Given the description of an element on the screen output the (x, y) to click on. 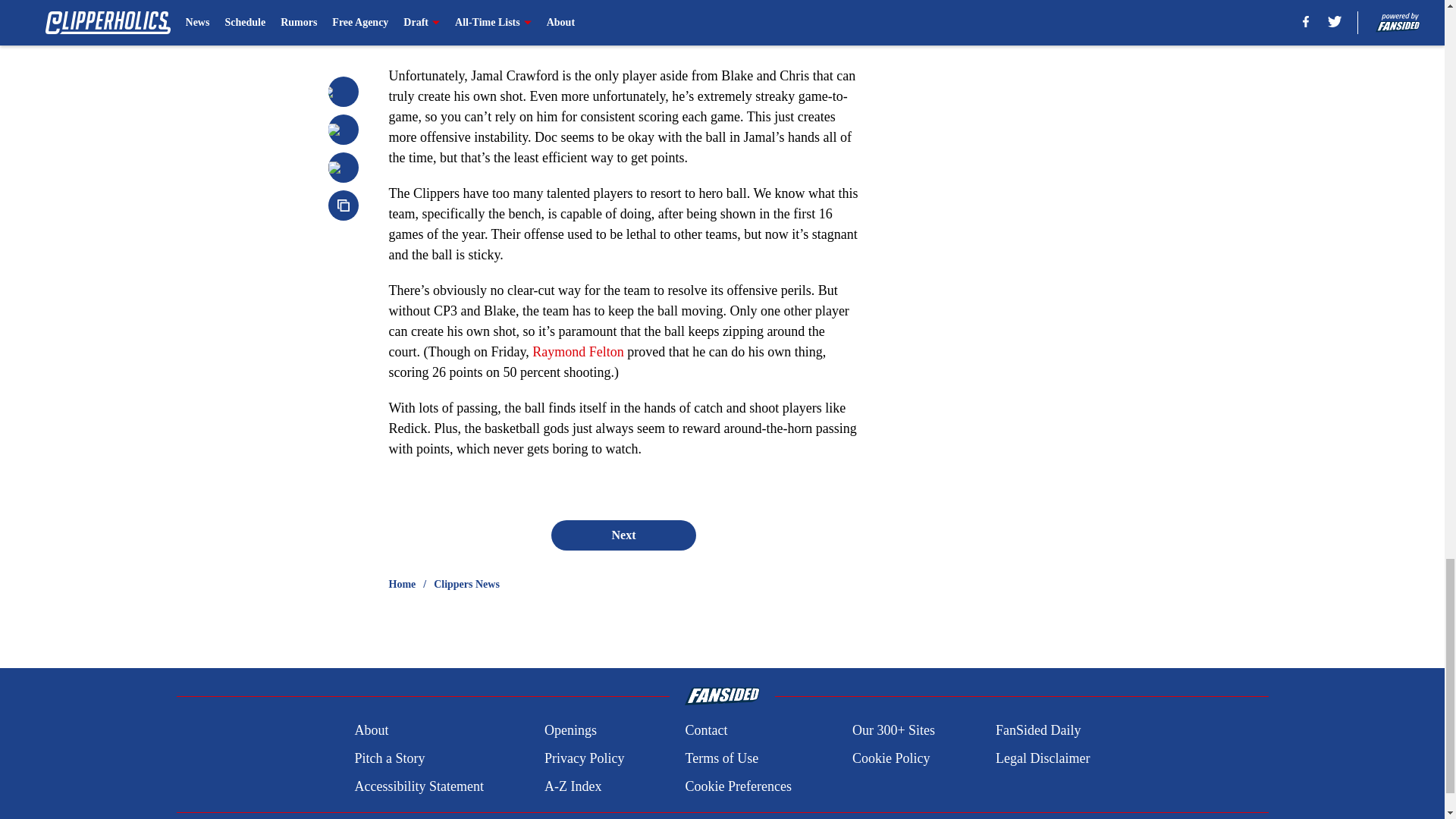
About (370, 730)
Contact (705, 730)
Alan Anderson (610, 13)
Next (622, 535)
Brandon Bass (656, 19)
Clippers News (466, 584)
Marreese Speights (771, 19)
Raymond Felton (578, 351)
Home (401, 584)
Openings (570, 730)
